Given the description of an element on the screen output the (x, y) to click on. 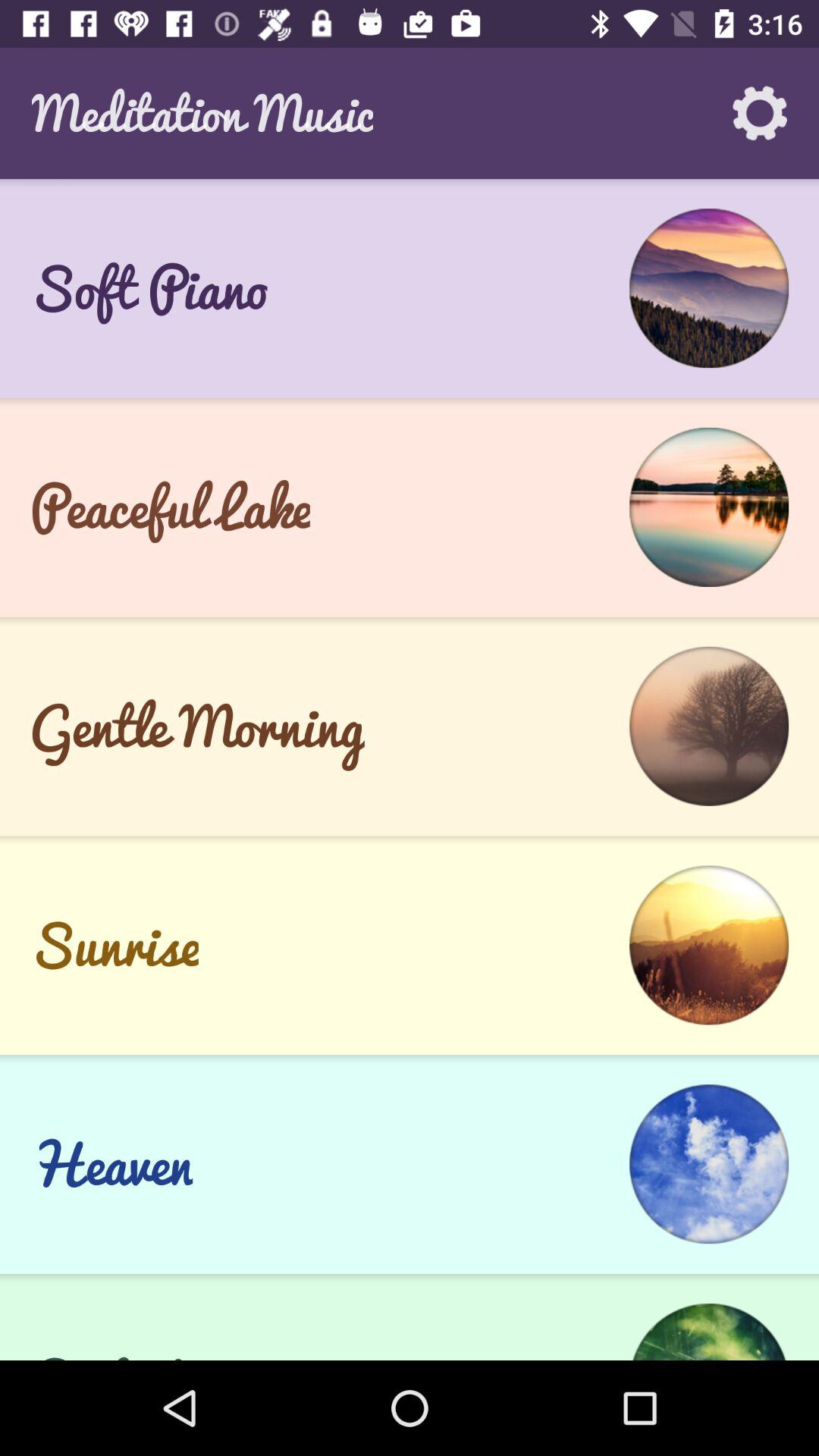
select soft piano icon (148, 288)
